Given the description of an element on the screen output the (x, y) to click on. 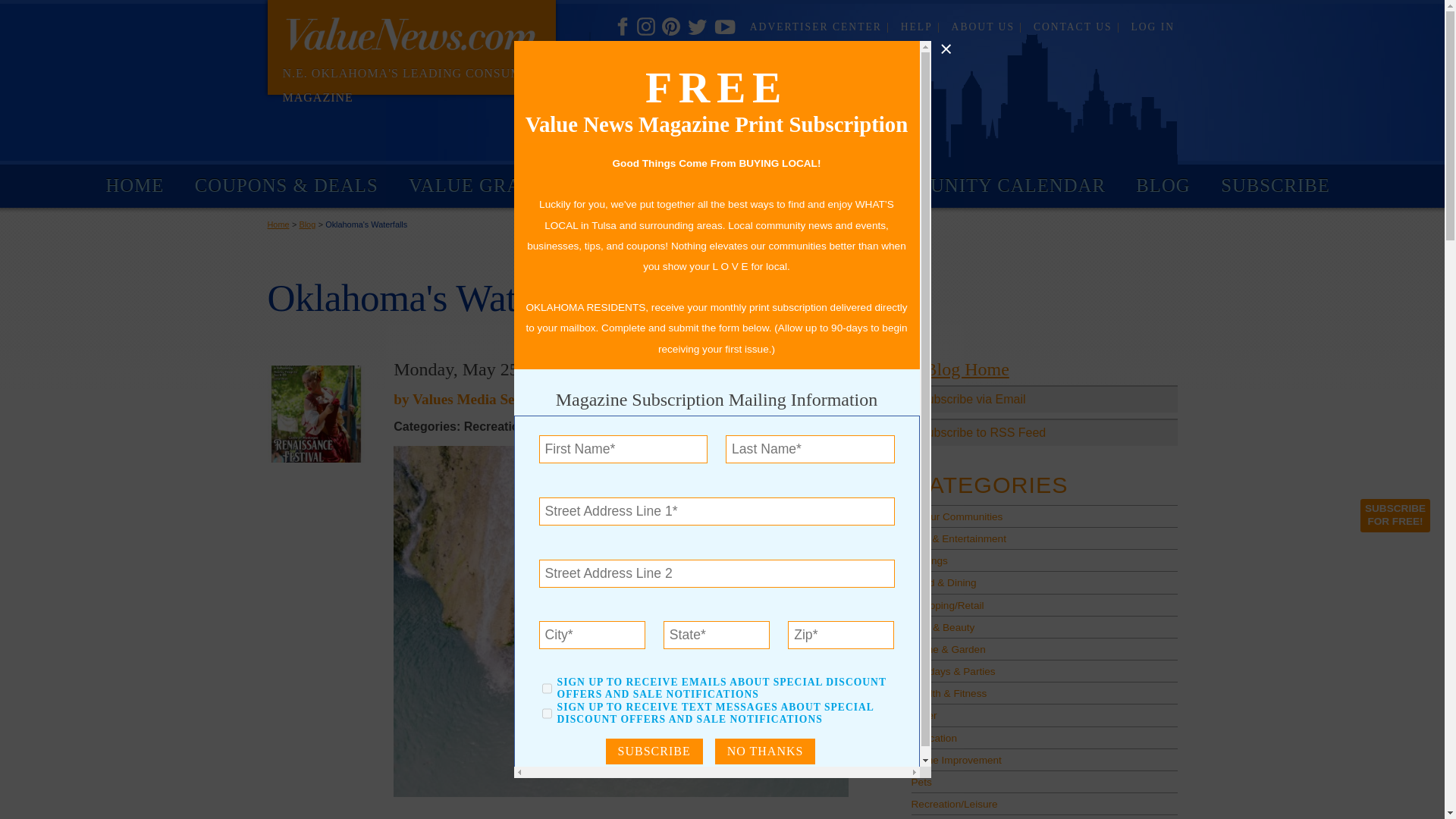
Blog (306, 224)
ARTICLES (789, 185)
Home (277, 224)
COMMUNITY CALENDAR (986, 185)
Subscribe to the Value News Tulsa Values Blog (1044, 431)
CONTACT US (1077, 27)
Oklahoma's Waterfalls (365, 224)
Subscribe (654, 751)
Log into your Value News account. (1152, 27)
In Our Communities (1044, 516)
ABOUT US (987, 27)
ADVERTISER CENTER (819, 27)
ONLINE ISSUES (638, 185)
Home (277, 224)
